Given the description of an element on the screen output the (x, y) to click on. 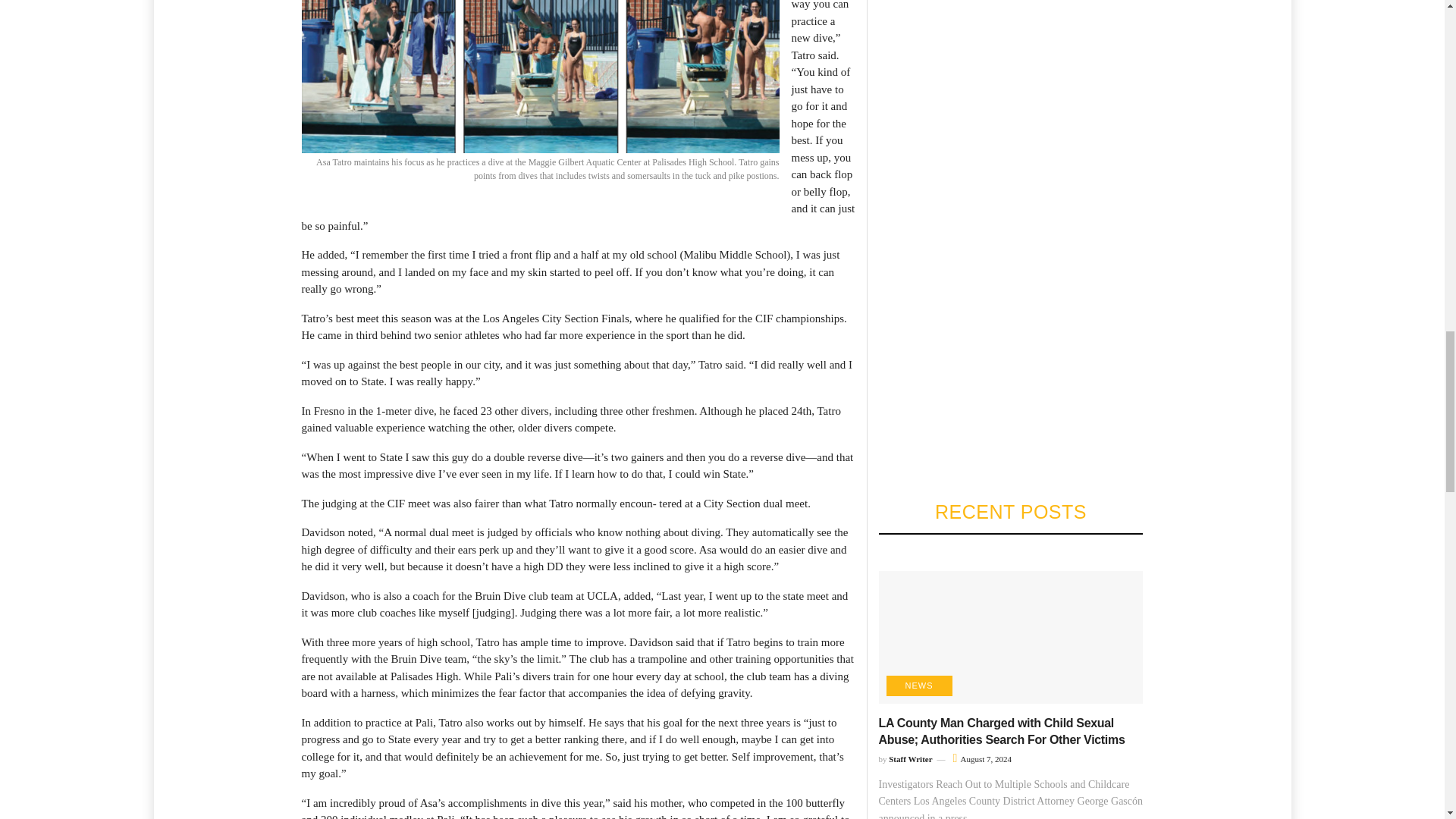
NEWS (918, 685)
Staff Writer (909, 758)
August 7, 2024 (982, 758)
Page 18 (578, 703)
